Given the description of an element on the screen output the (x, y) to click on. 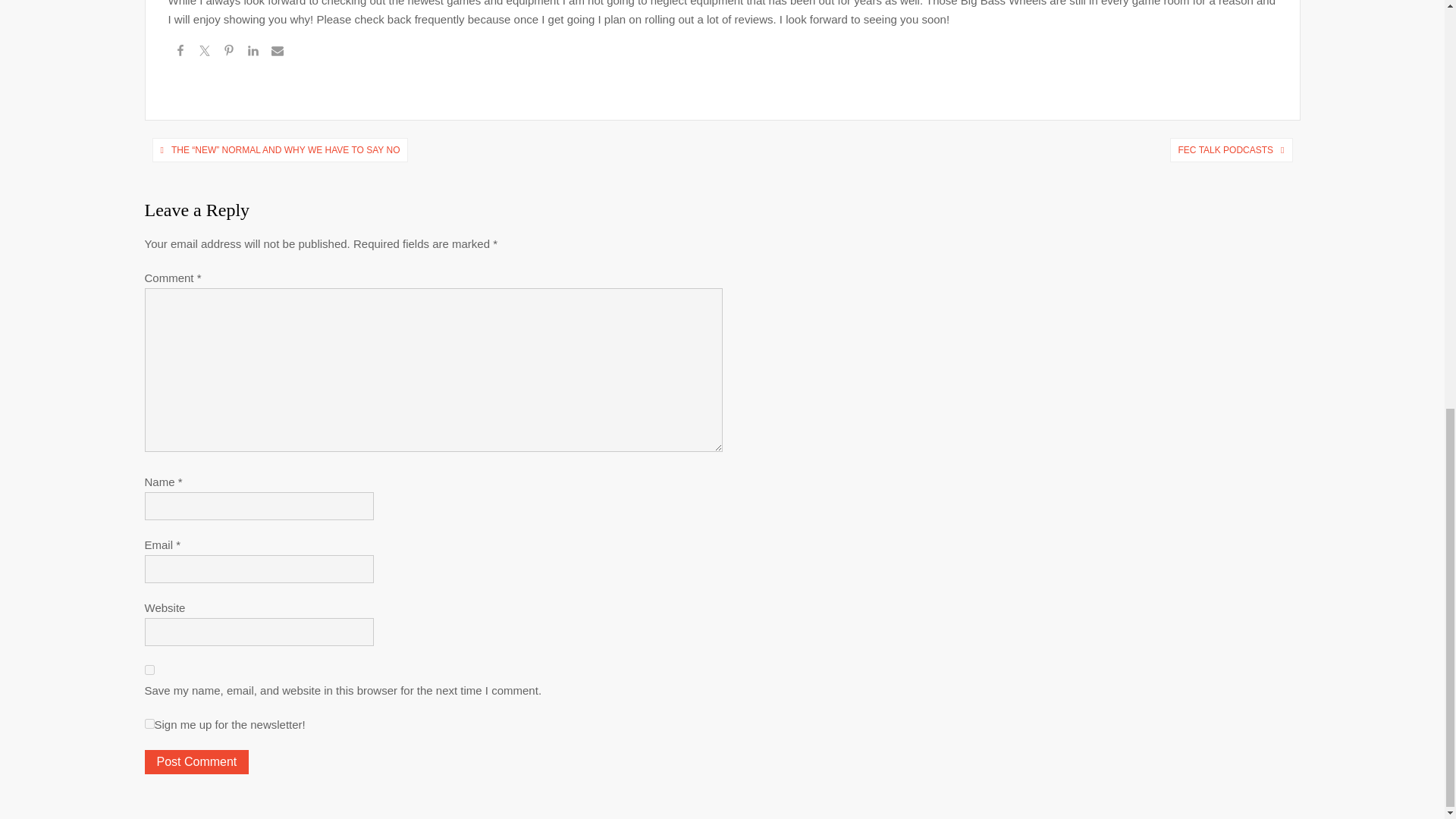
1 (149, 723)
Post Comment (196, 761)
yes (149, 669)
